Given the description of an element on the screen output the (x, y) to click on. 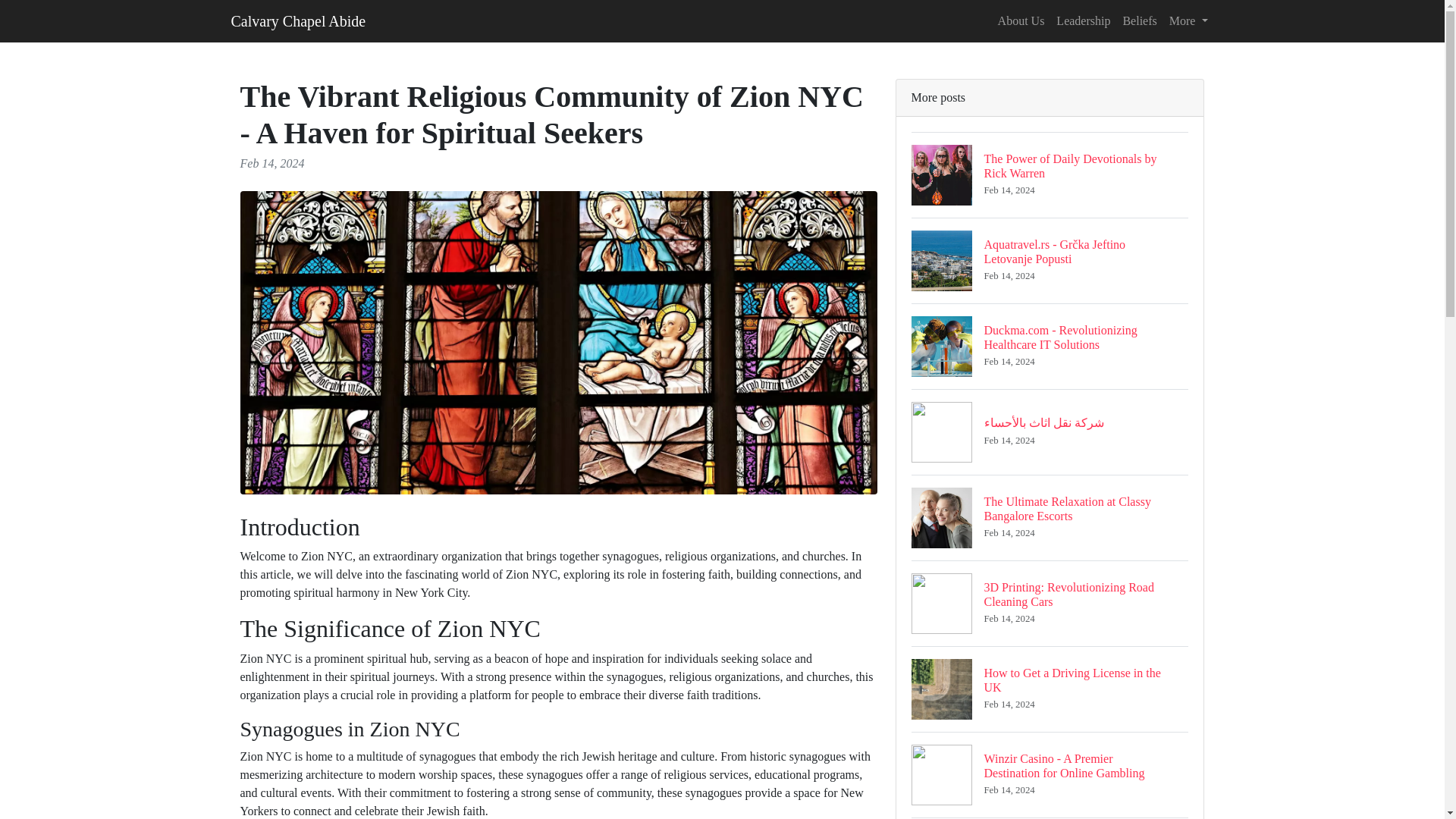
More (1188, 20)
About Us (1021, 20)
Leadership (1138, 20)
